Given the description of an element on the screen output the (x, y) to click on. 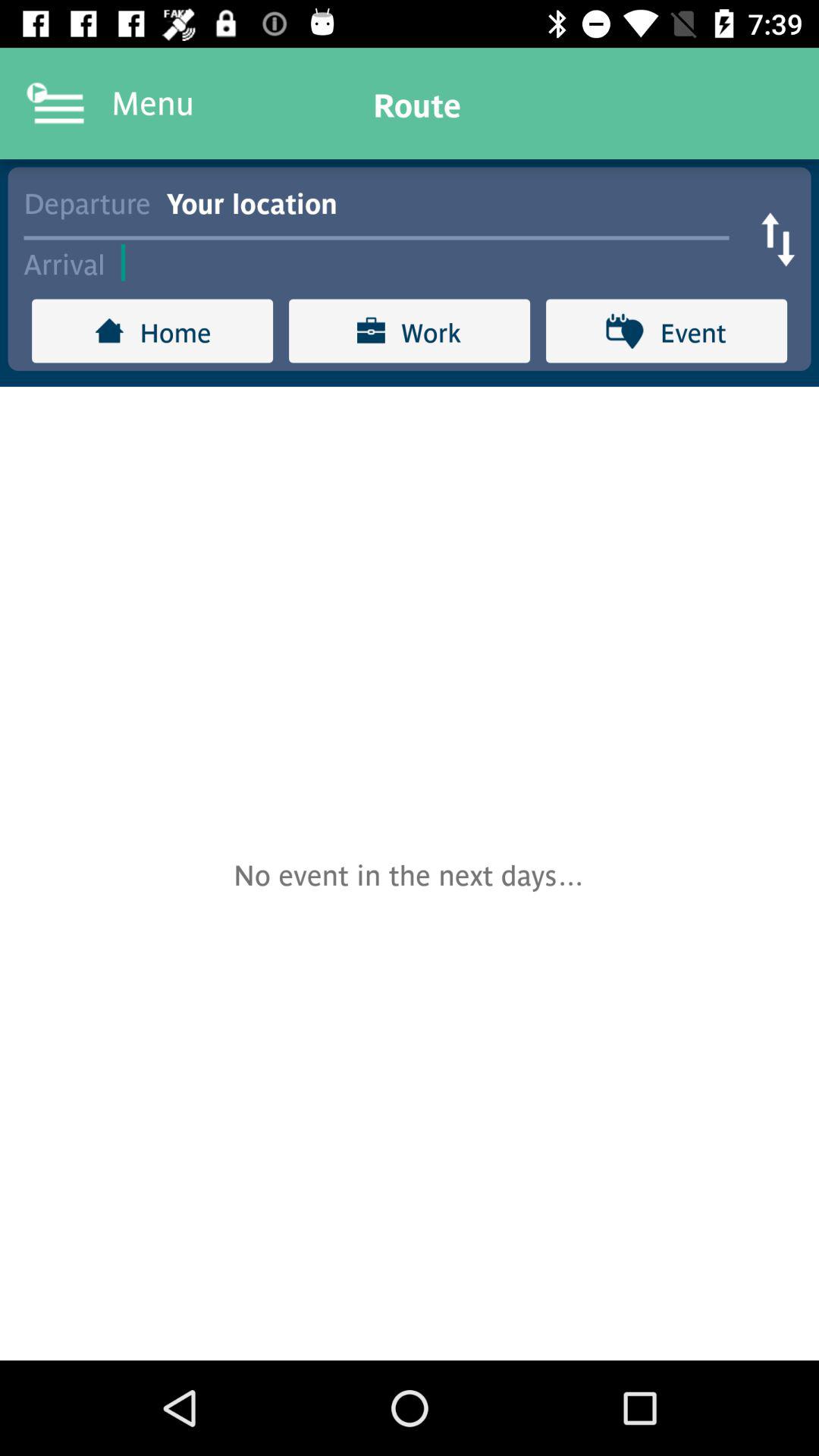
click item to the right of departure (455, 201)
